Given the description of an element on the screen output the (x, y) to click on. 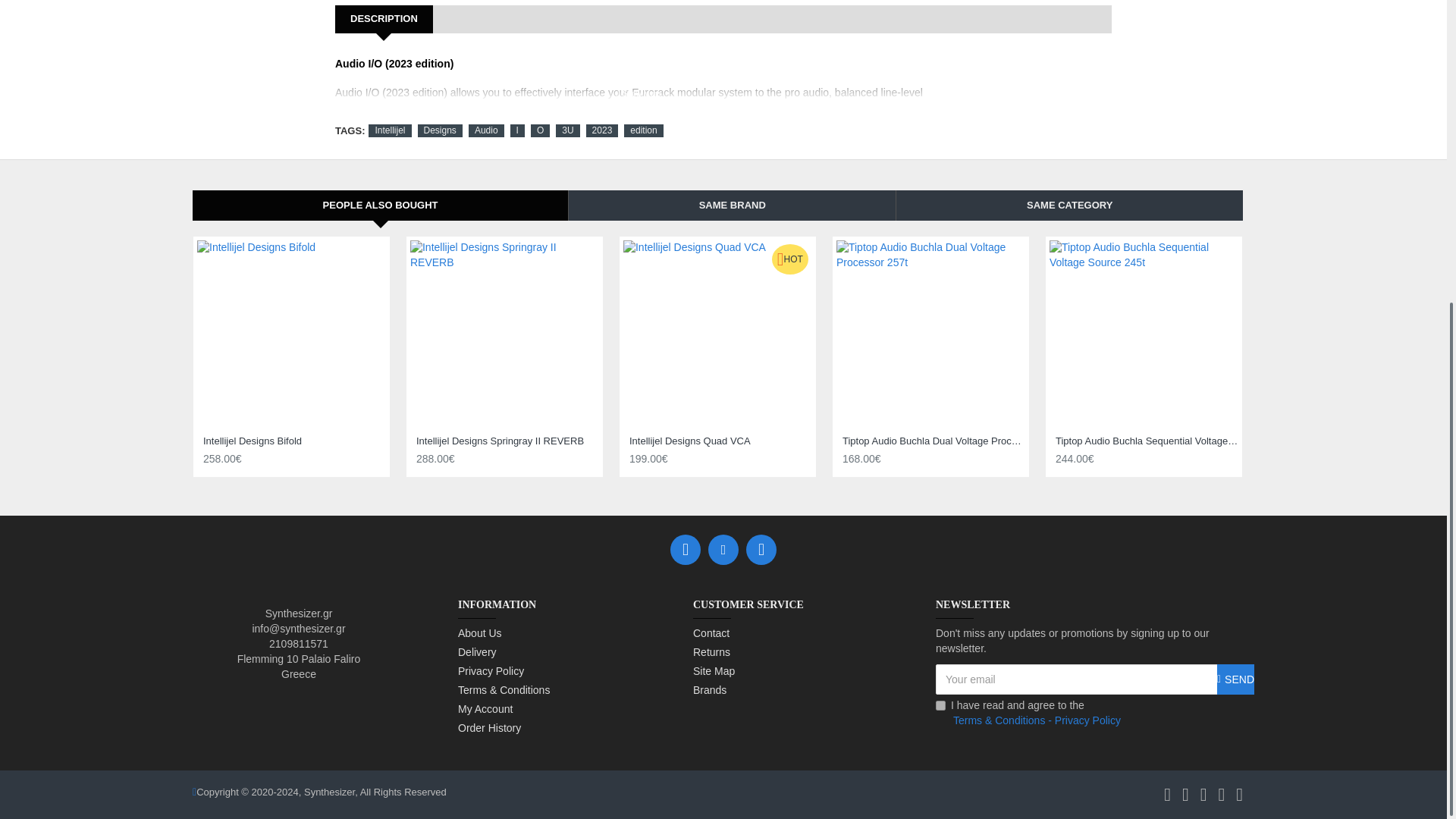
1 (940, 705)
